Given the description of an element on the screen output the (x, y) to click on. 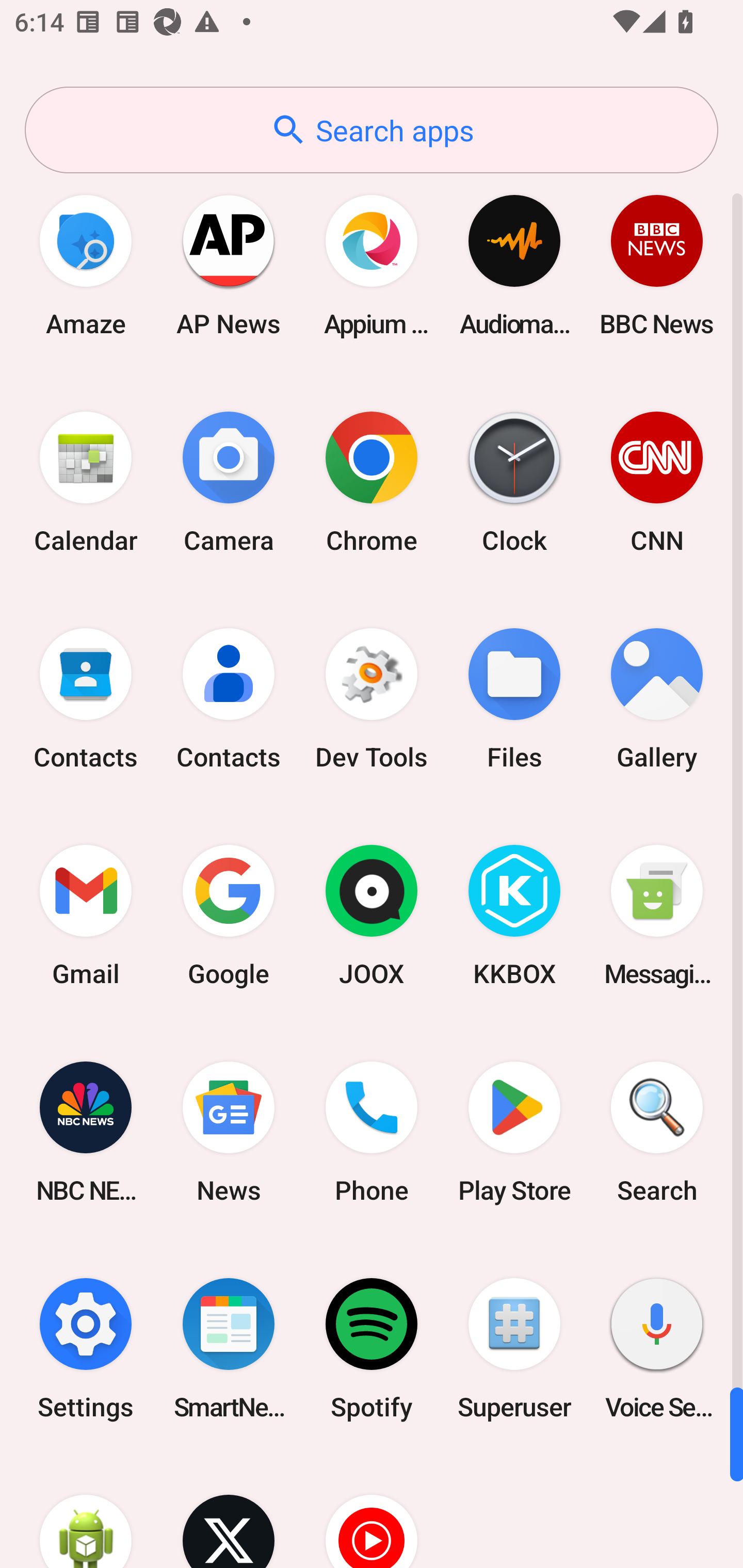
  Search apps (371, 130)
Amaze (85, 264)
AP News (228, 264)
Appium Settings (371, 264)
Audio­mack (514, 264)
BBC News (656, 264)
Calendar (85, 482)
Camera (228, 482)
Chrome (371, 482)
Clock (514, 482)
CNN (656, 482)
Contacts (85, 699)
Contacts (228, 699)
Dev Tools (371, 699)
Files (514, 699)
Gallery (656, 699)
Gmail (85, 915)
Google (228, 915)
JOOX (371, 915)
KKBOX (514, 915)
Messaging (656, 915)
NBC NEWS (85, 1131)
News (228, 1131)
Phone (371, 1131)
Play Store (514, 1131)
Search (656, 1131)
Settings (85, 1348)
SmartNews (228, 1348)
Spotify (371, 1348)
Superuser (514, 1348)
Voice Search (656, 1348)
WebView Browser Tester (85, 1512)
X (228, 1512)
YT Music (371, 1512)
